Given the description of an element on the screen output the (x, y) to click on. 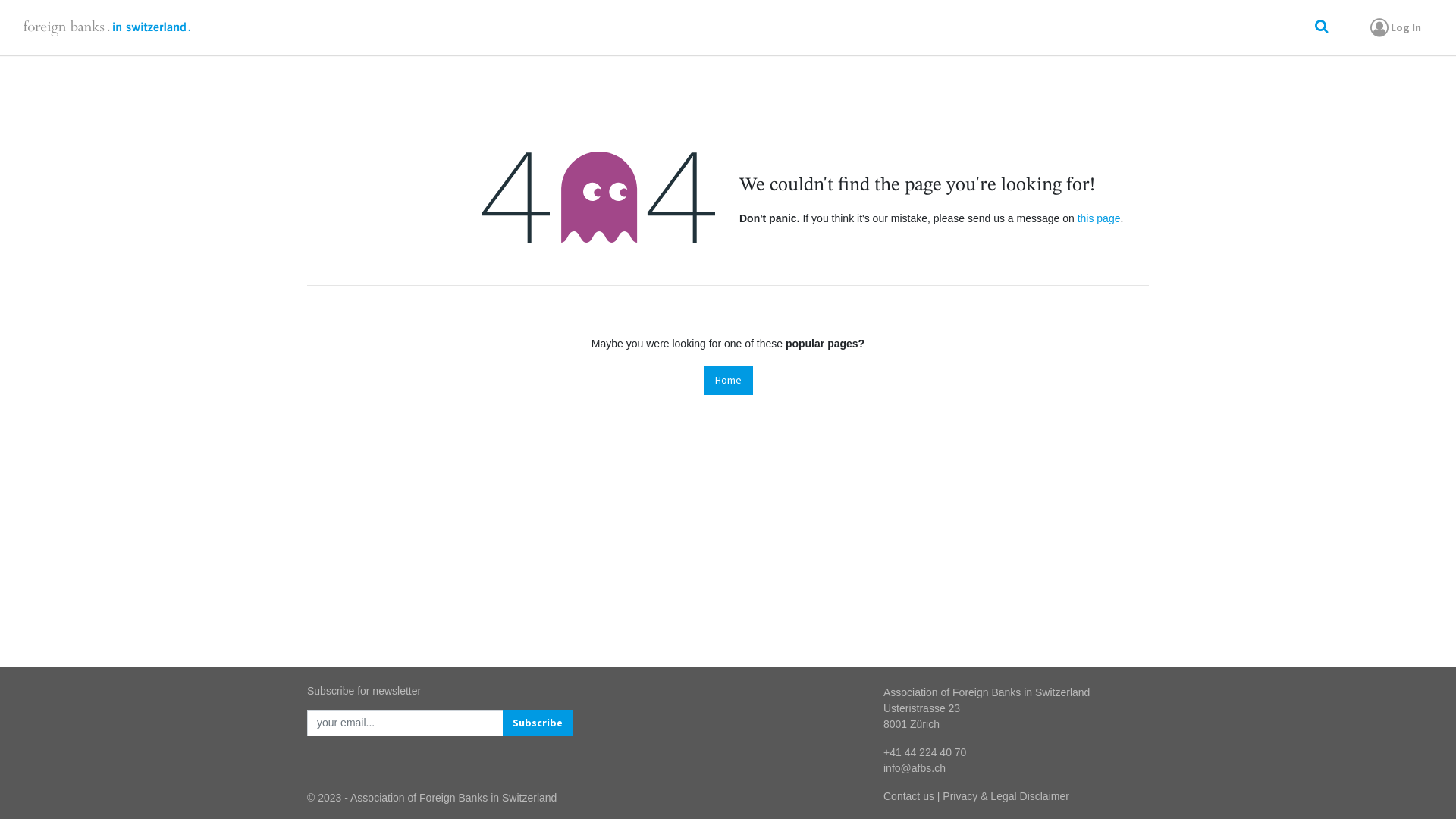
Subscribe Element type: text (537, 722)
Log In Element type: text (1393, 27)
Contact us Element type: text (908, 796)
Privacy & Legal Disclaimer Element type: text (1005, 796)
info@afbs.ch Element type: text (914, 768)
Home Element type: text (728, 380)
this page Element type: text (1098, 218)
